Given the description of an element on the screen output the (x, y) to click on. 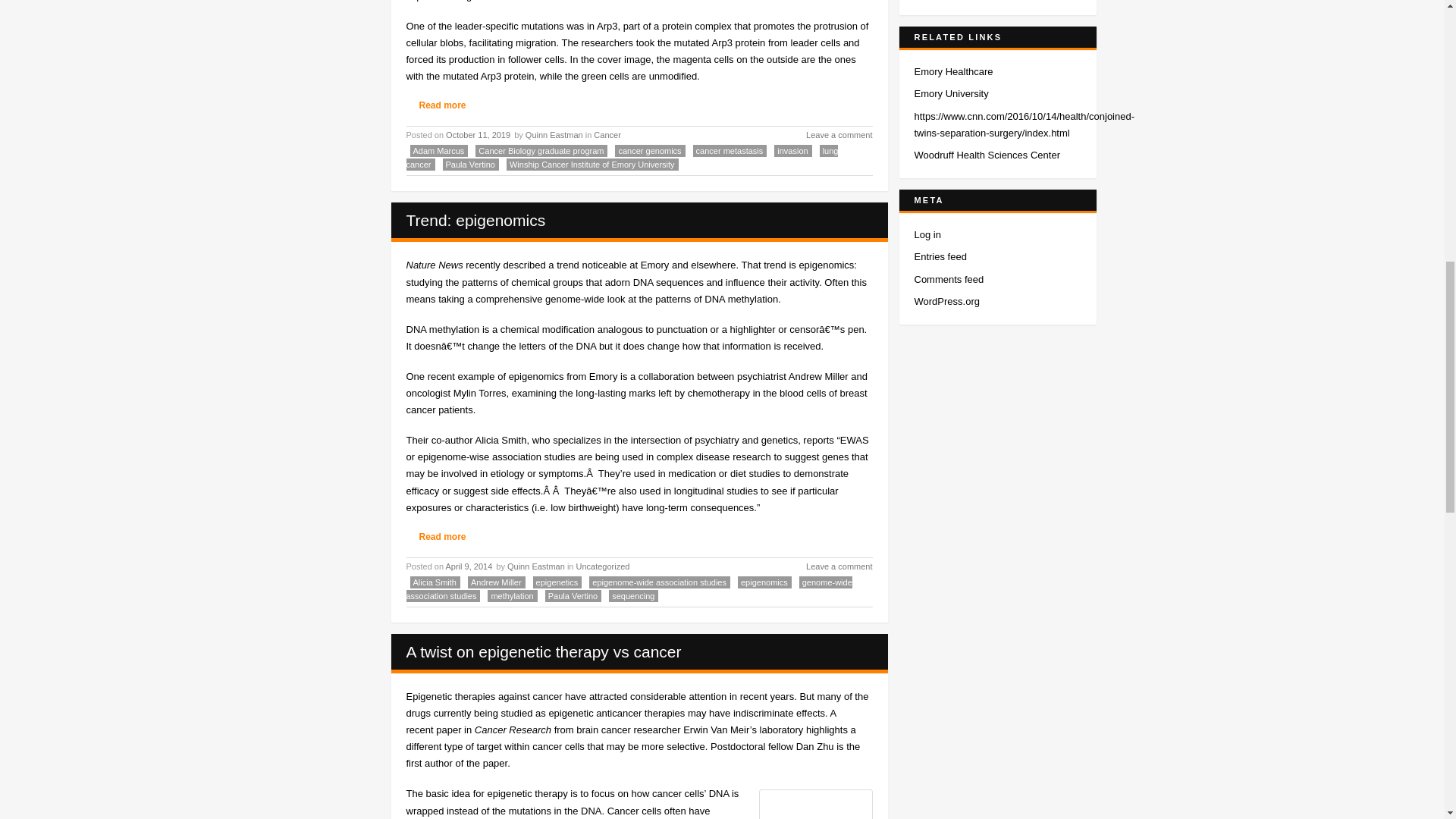
Cancer Biology graduate program (541, 150)
Leave a comment (830, 135)
zhu mbd2 glioblastoma cancer research van meir (494, 729)
Cancer (607, 134)
Winship Cancer Institute of Emory University (592, 164)
Paula Vertino (470, 164)
Trend: epigenomics (476, 220)
View all posts by Quinn Eastman (554, 134)
Read A twist on epigenetic therapy vs cancer (543, 651)
October 11, 2019 (478, 134)
View all posts by Quinn Eastman (535, 565)
pbs epigenetic therapy (657, 696)
invasion (792, 150)
cancer genomics (649, 150)
cancer metastasis (730, 150)
